Given the description of an element on the screen output the (x, y) to click on. 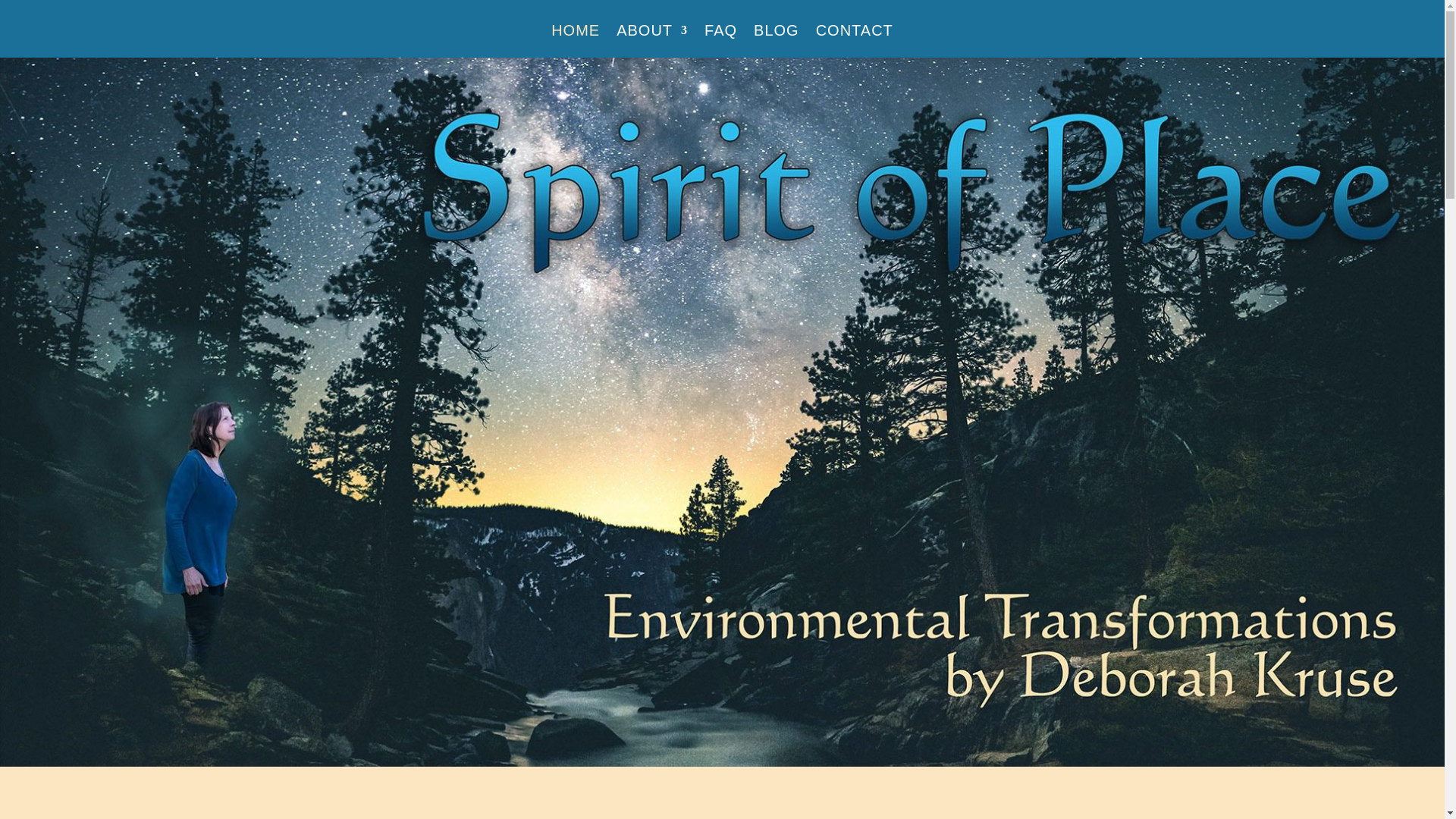
BLOG (776, 41)
ABOUT (651, 41)
FAQ (720, 41)
HOME (575, 41)
CONTACT (854, 41)
